Given the description of an element on the screen output the (x, y) to click on. 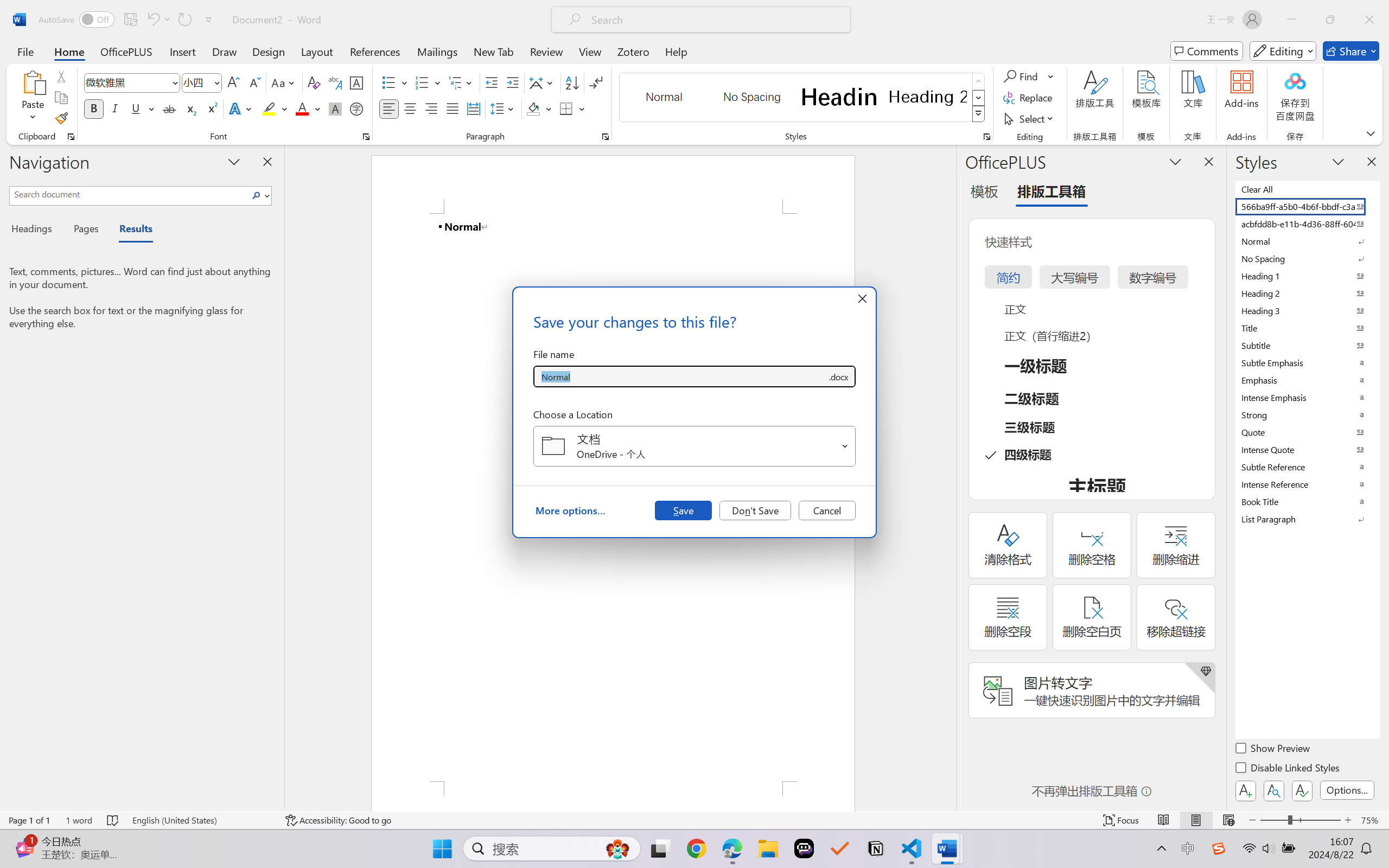
Search document (128, 193)
Normal (1306, 240)
Styles (978, 113)
Heading 2 (927, 96)
Read Mode (1163, 819)
Asian Layout (542, 82)
Search (256, 195)
Cut (60, 75)
Text Highlight Color Yellow (269, 108)
Design (268, 51)
Font Size (196, 82)
